Given the description of an element on the screen output the (x, y) to click on. 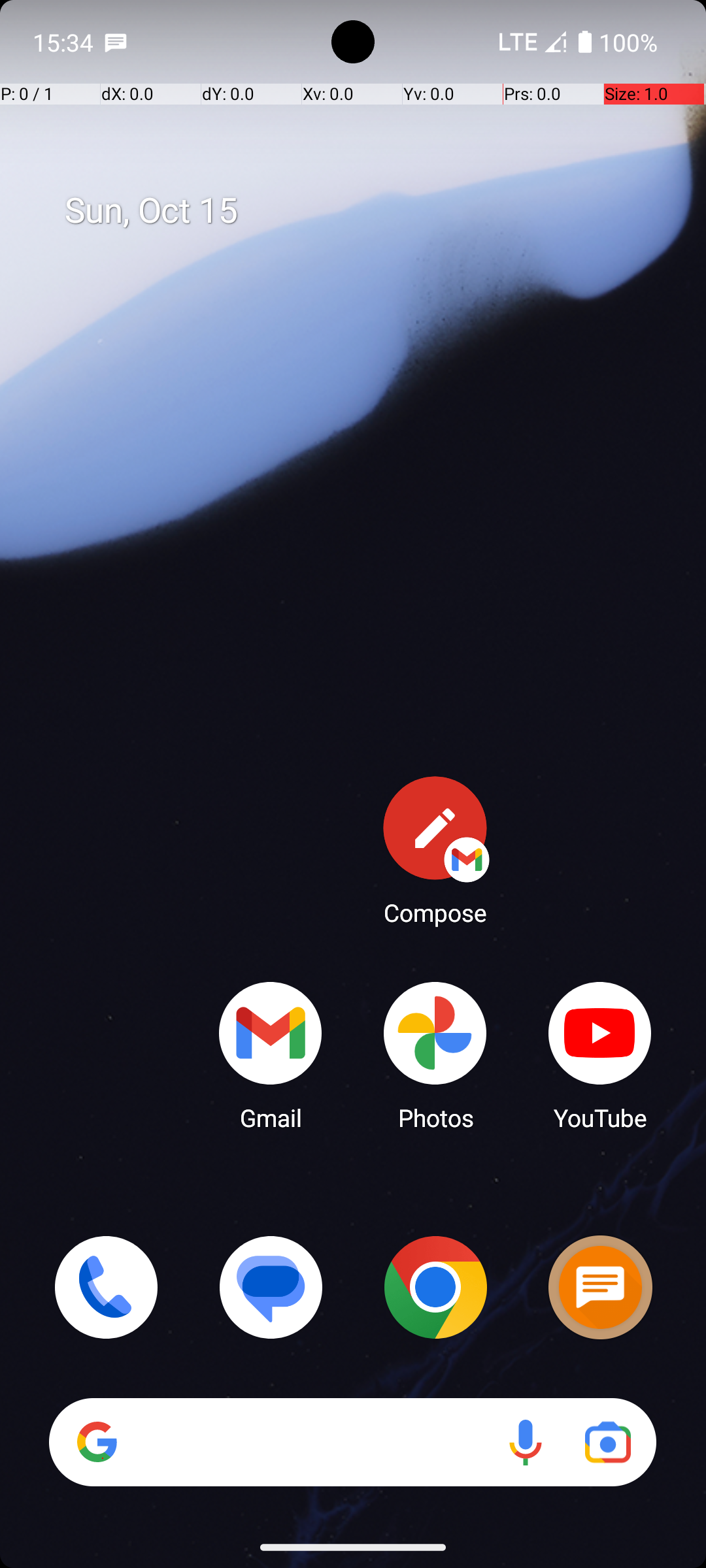
Compose Element type: android.widget.TextView (435, 849)
SMS Messenger notification: +15505050843 Element type: android.widget.ImageView (115, 41)
